Given the description of an element on the screen output the (x, y) to click on. 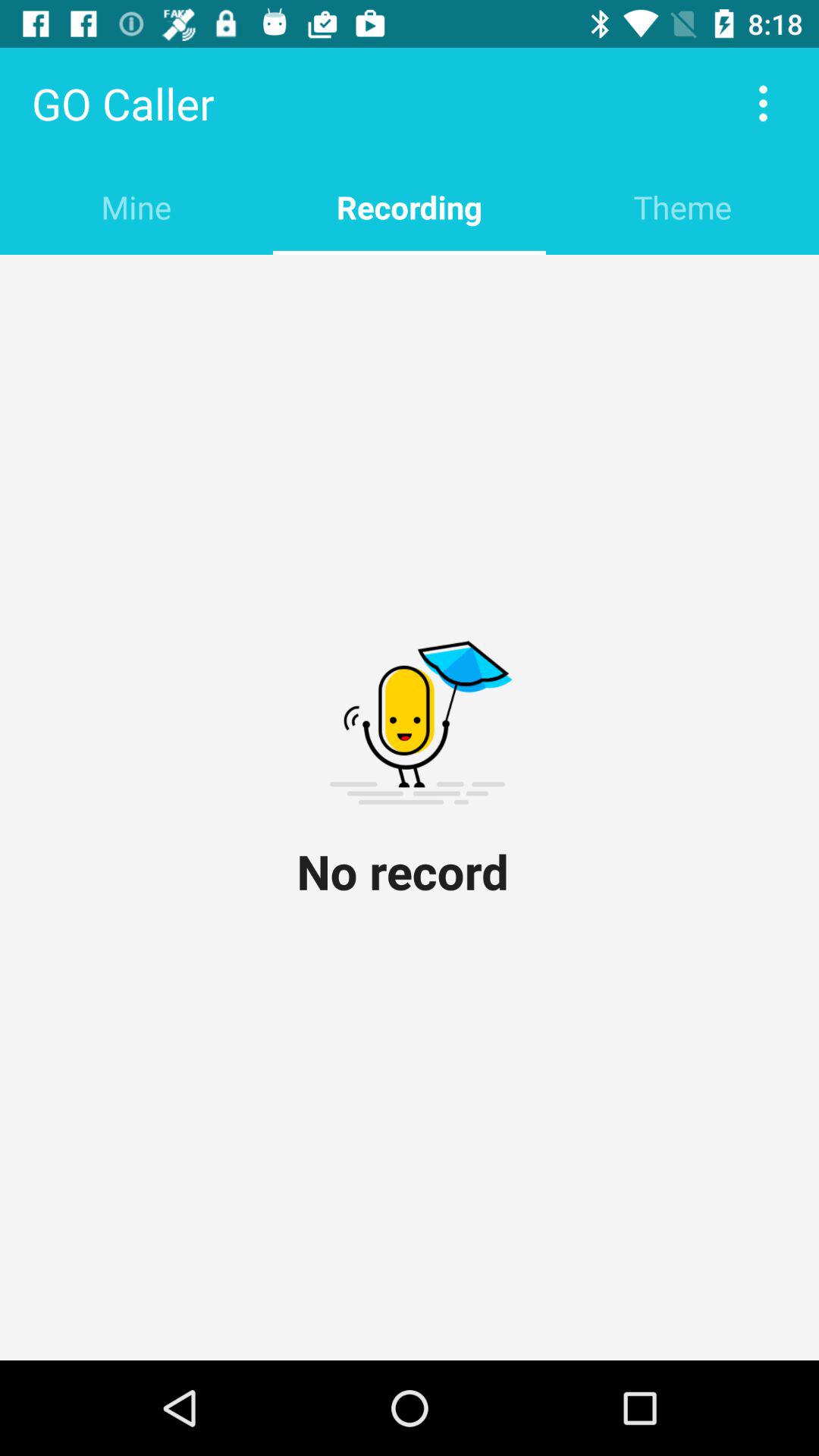
launch mine item (136, 206)
